Given the description of an element on the screen output the (x, y) to click on. 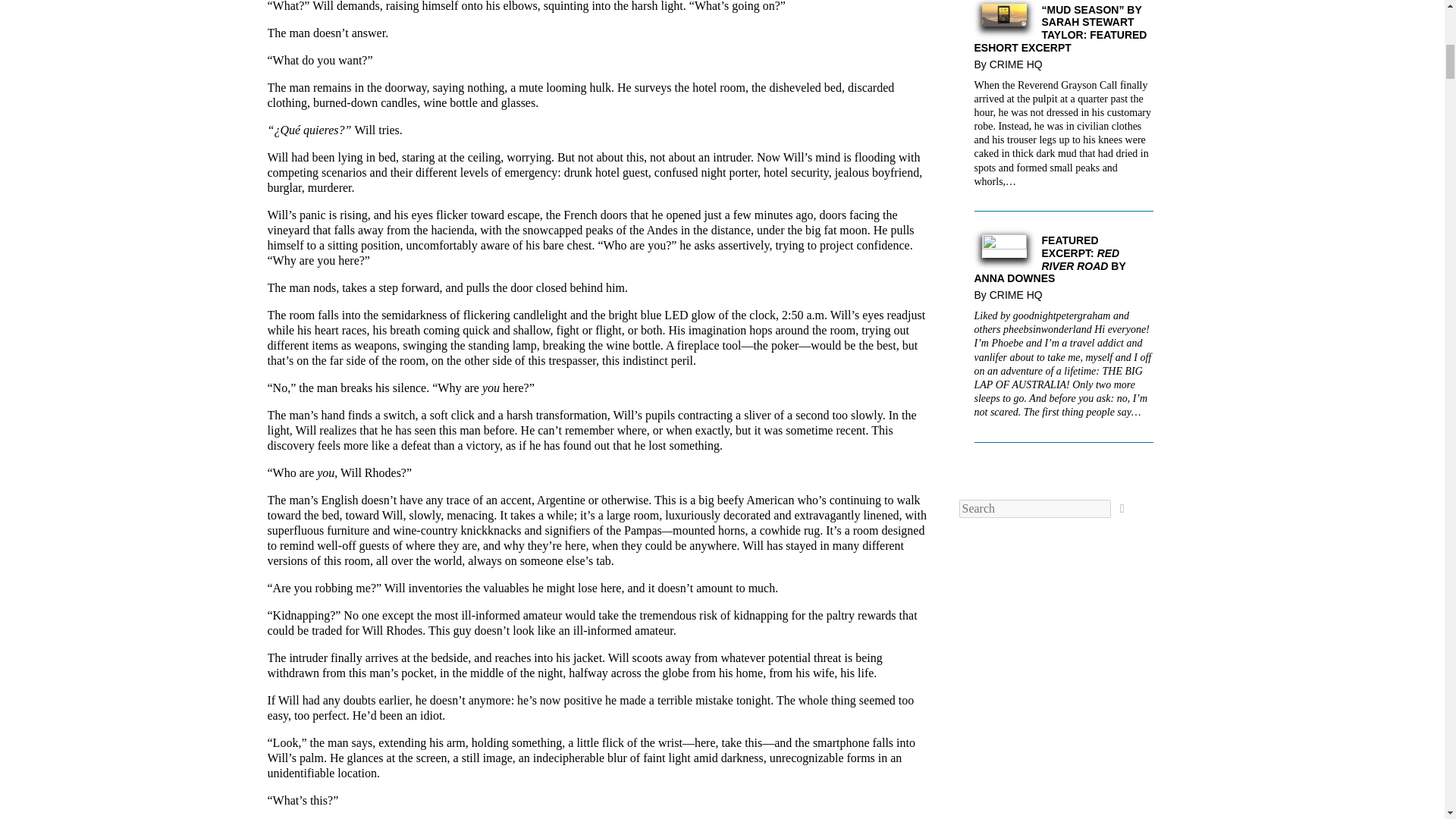
Crime HQ (1019, 295)
Crime HQ (1019, 64)
